Given the description of an element on the screen output the (x, y) to click on. 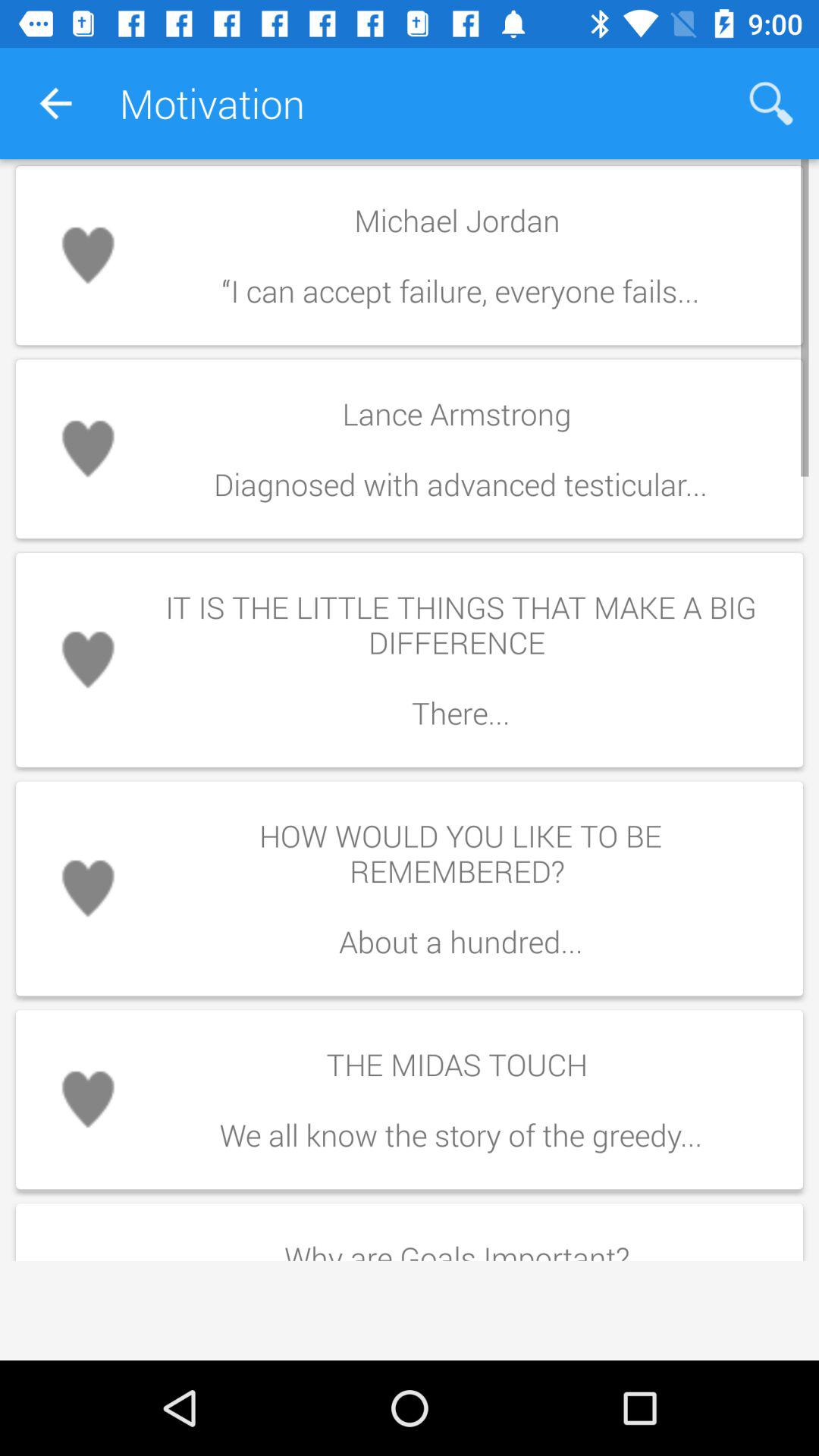
click the icon at the top right corner (771, 103)
